Given the description of an element on the screen output the (x, y) to click on. 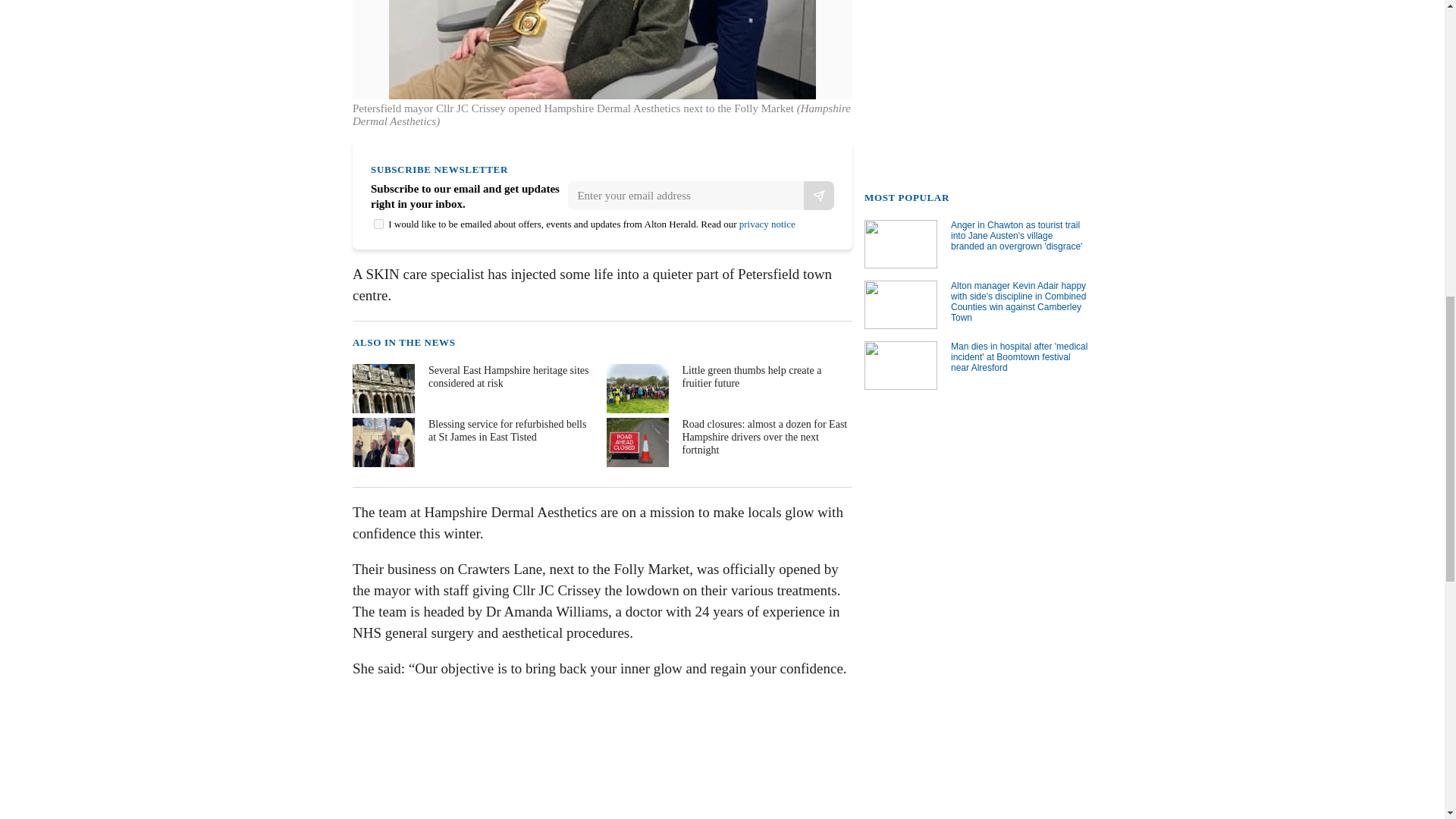
Little green thumbs help create a fruitier future (727, 388)
privacy notice (766, 224)
Several East Hampshire heritage sites considered at risk (473, 388)
